Given the description of an element on the screen output the (x, y) to click on. 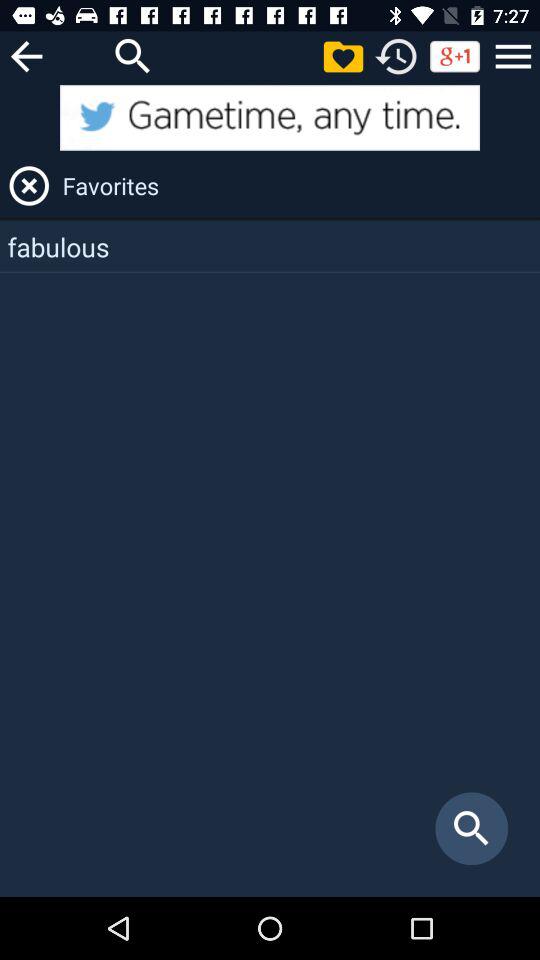
recent searches list (396, 56)
